Given the description of an element on the screen output the (x, y) to click on. 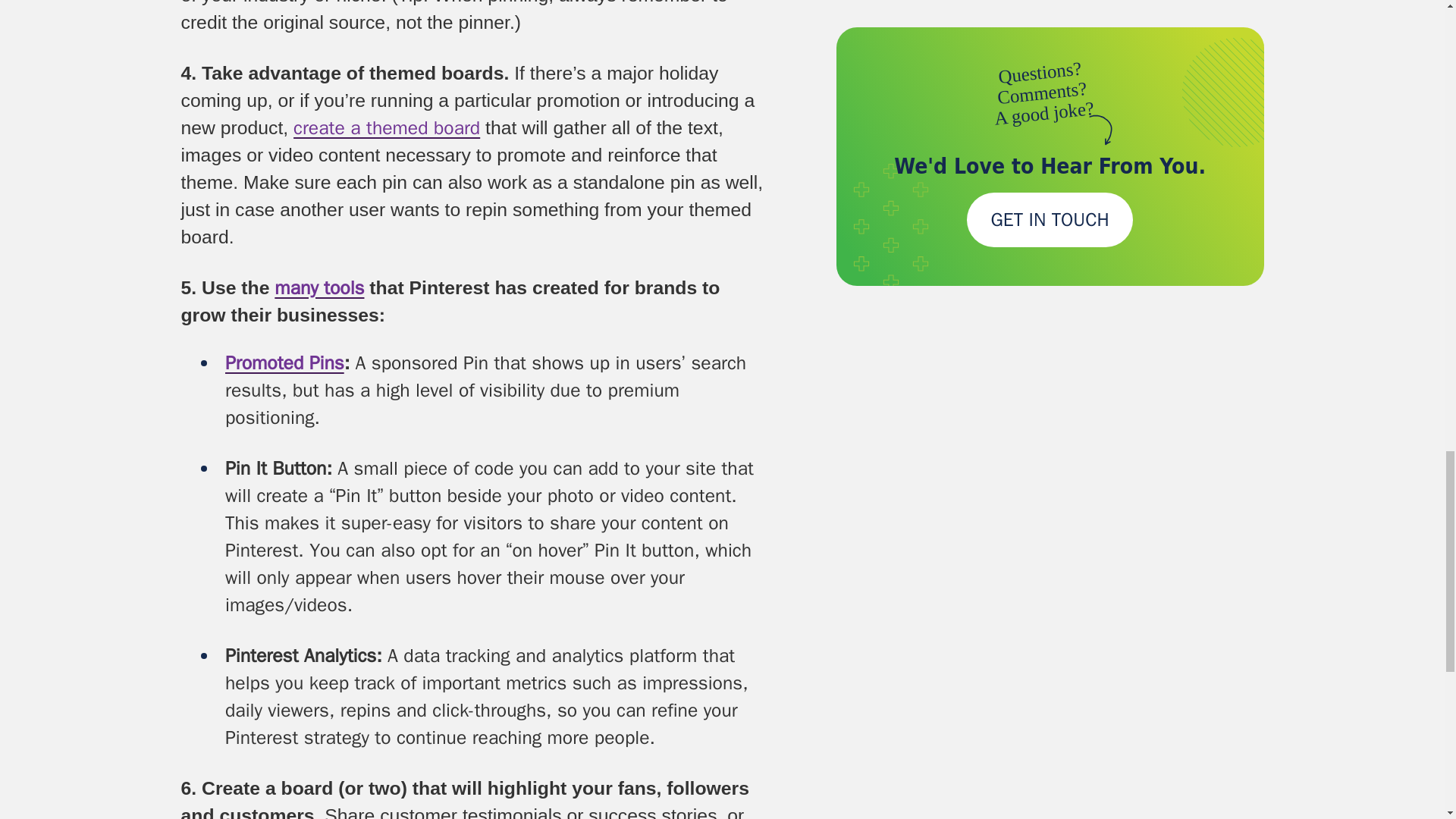
create a themed board (387, 127)
Promoted Pins (284, 362)
many tools (319, 287)
